Given the description of an element on the screen output the (x, y) to click on. 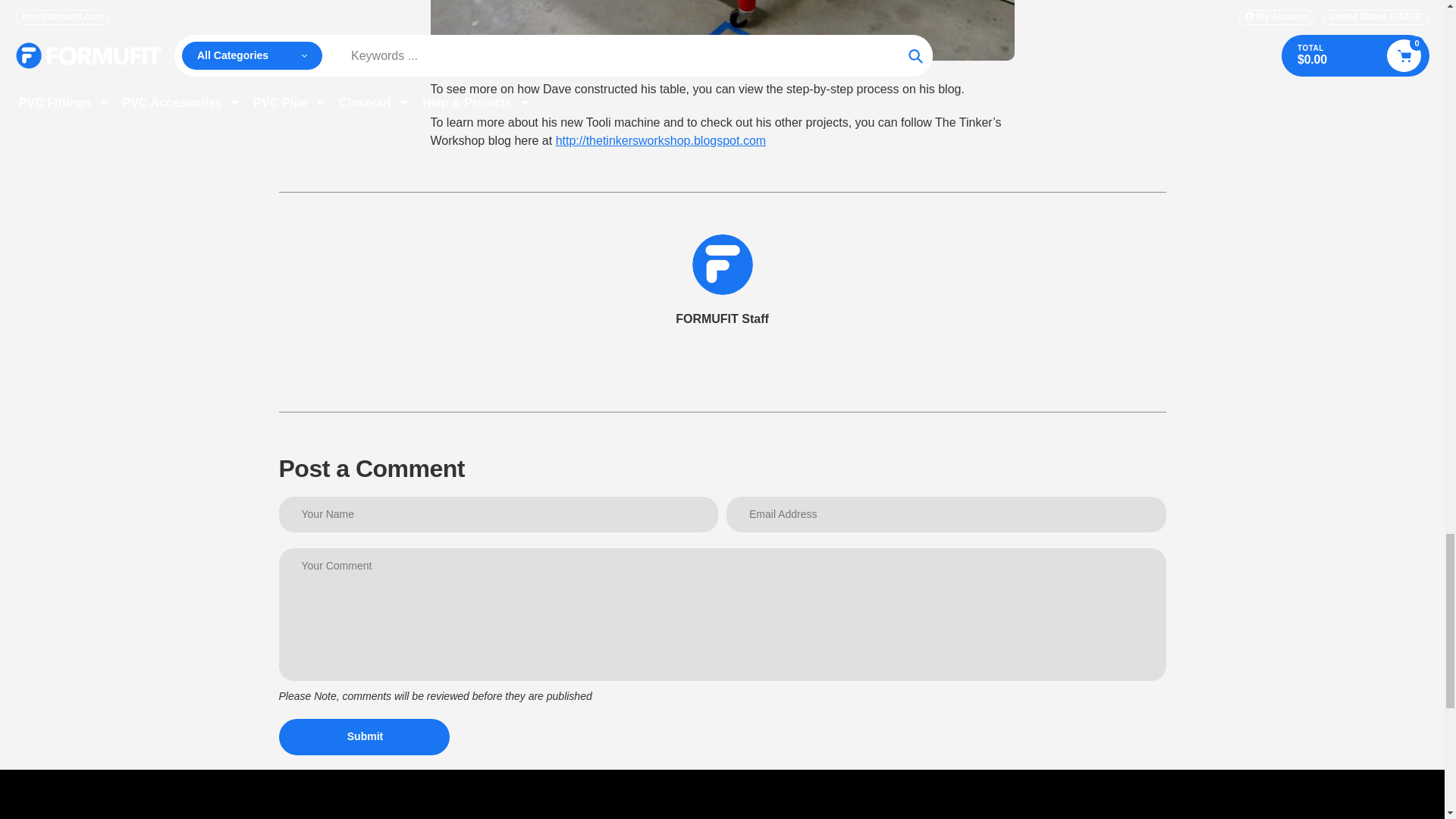
Submit (364, 737)
